Given the description of an element on the screen output the (x, y) to click on. 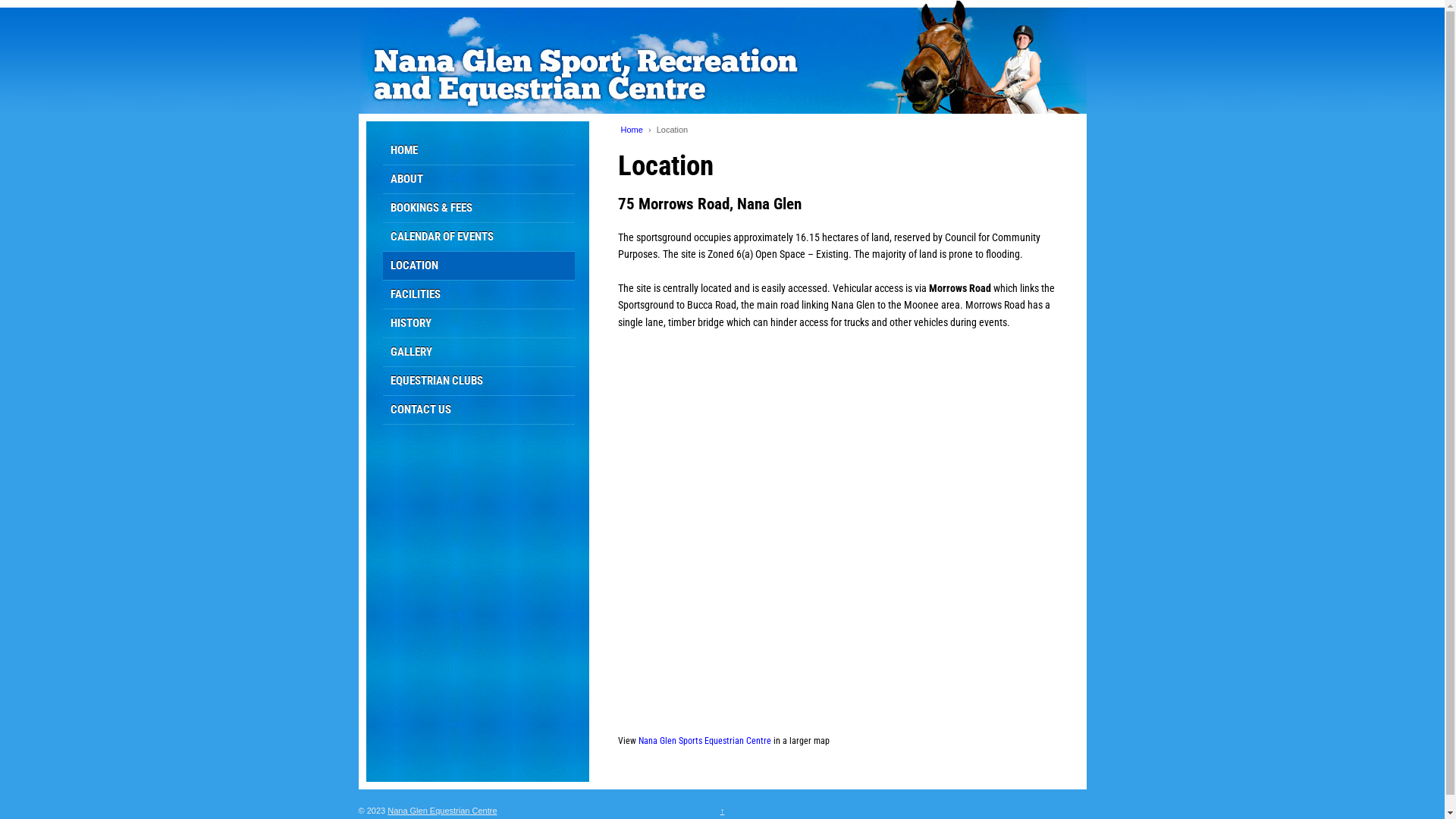
Home Element type: text (631, 129)
HISTORY Element type: text (478, 323)
HOME Element type: text (478, 150)
ABOUT Element type: text (478, 179)
LOCATION Element type: text (478, 265)
Nana Glen Equestrian Centre Element type: text (441, 810)
CALENDAR OF EVENTS Element type: text (478, 236)
GALLERY Element type: text (478, 352)
FACILITIES Element type: text (478, 294)
Nana Glen Sports Equestrian Centre Element type: text (704, 740)
EQUESTRIAN CLUBS Element type: text (478, 381)
BOOKINGS & FEES Element type: text (478, 208)
CONTACT US Element type: text (478, 409)
